Given the description of an element on the screen output the (x, y) to click on. 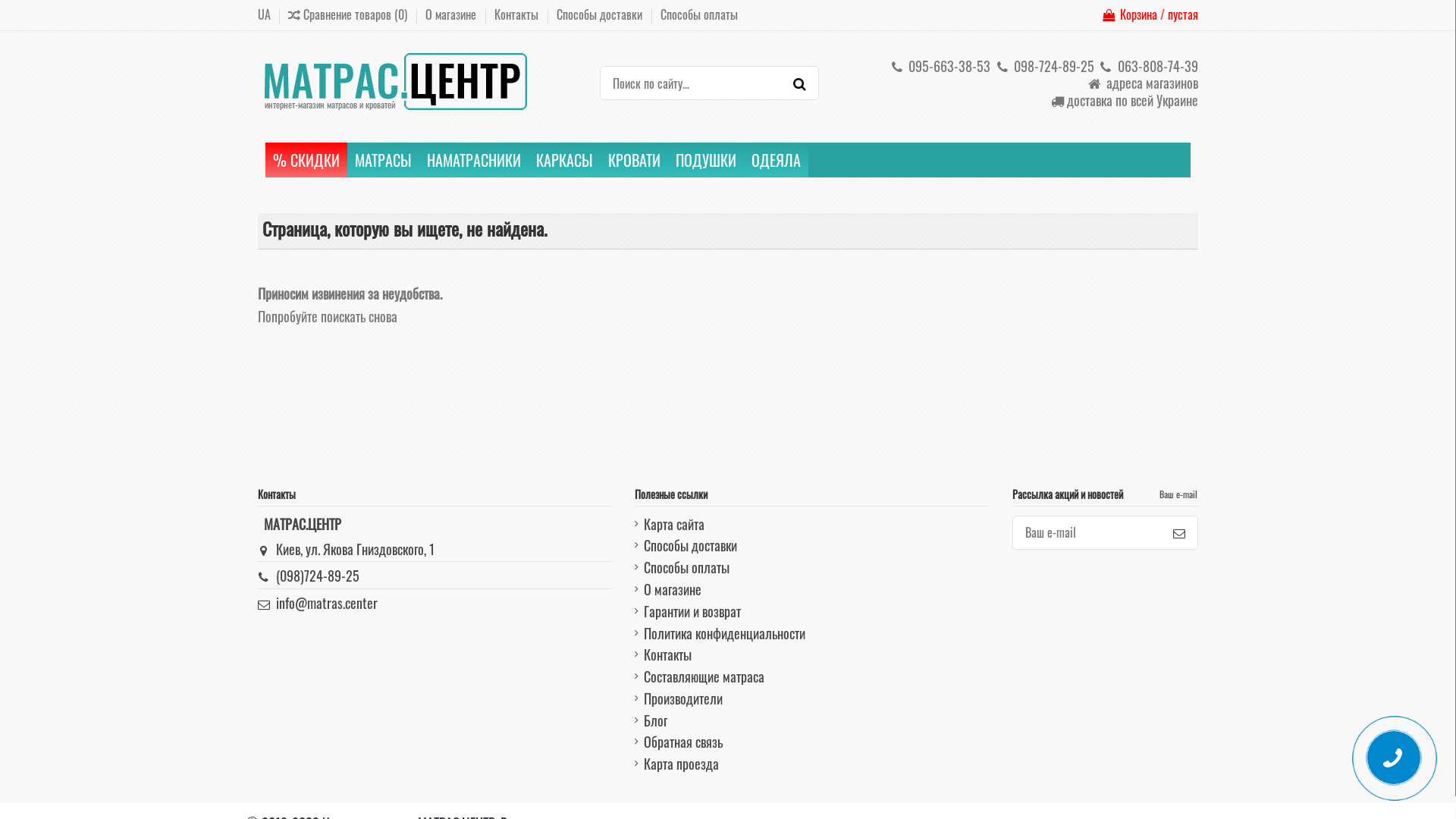
info@matras.center Element type: text (326, 602)
098-724-89-25 Element type: text (1043, 65)
UA Element type: text (263, 14)
063-808-74-39 Element type: text (1147, 65)
095-663-38-53 Element type: text (939, 65)
